Given the description of an element on the screen output the (x, y) to click on. 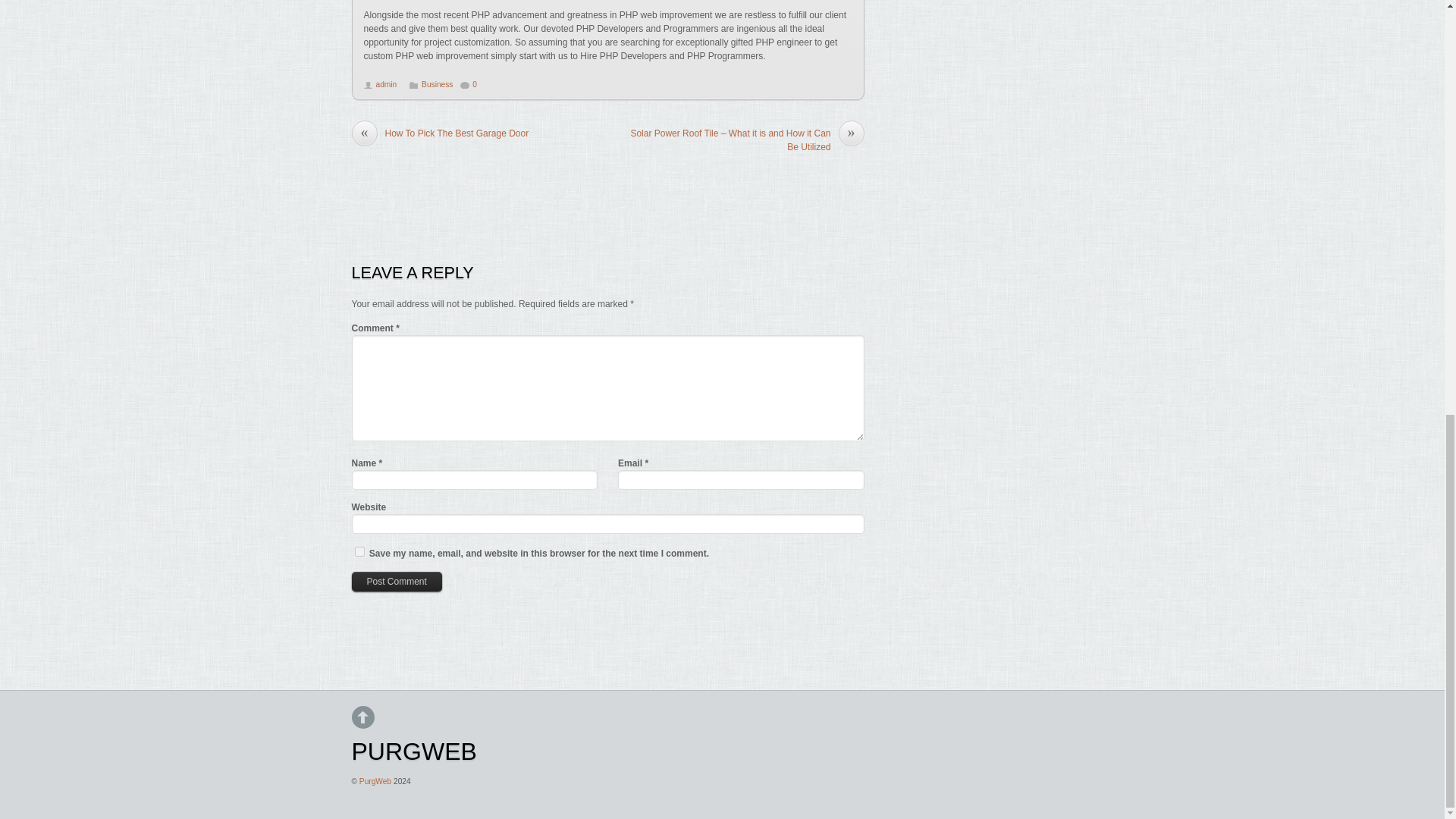
yes (360, 551)
Post Comment (397, 581)
PurgWeb (375, 781)
Post Comment (397, 581)
Business (437, 84)
admin (386, 84)
PURGWEB (414, 750)
PurgWeb (414, 750)
